Given the description of an element on the screen output the (x, y) to click on. 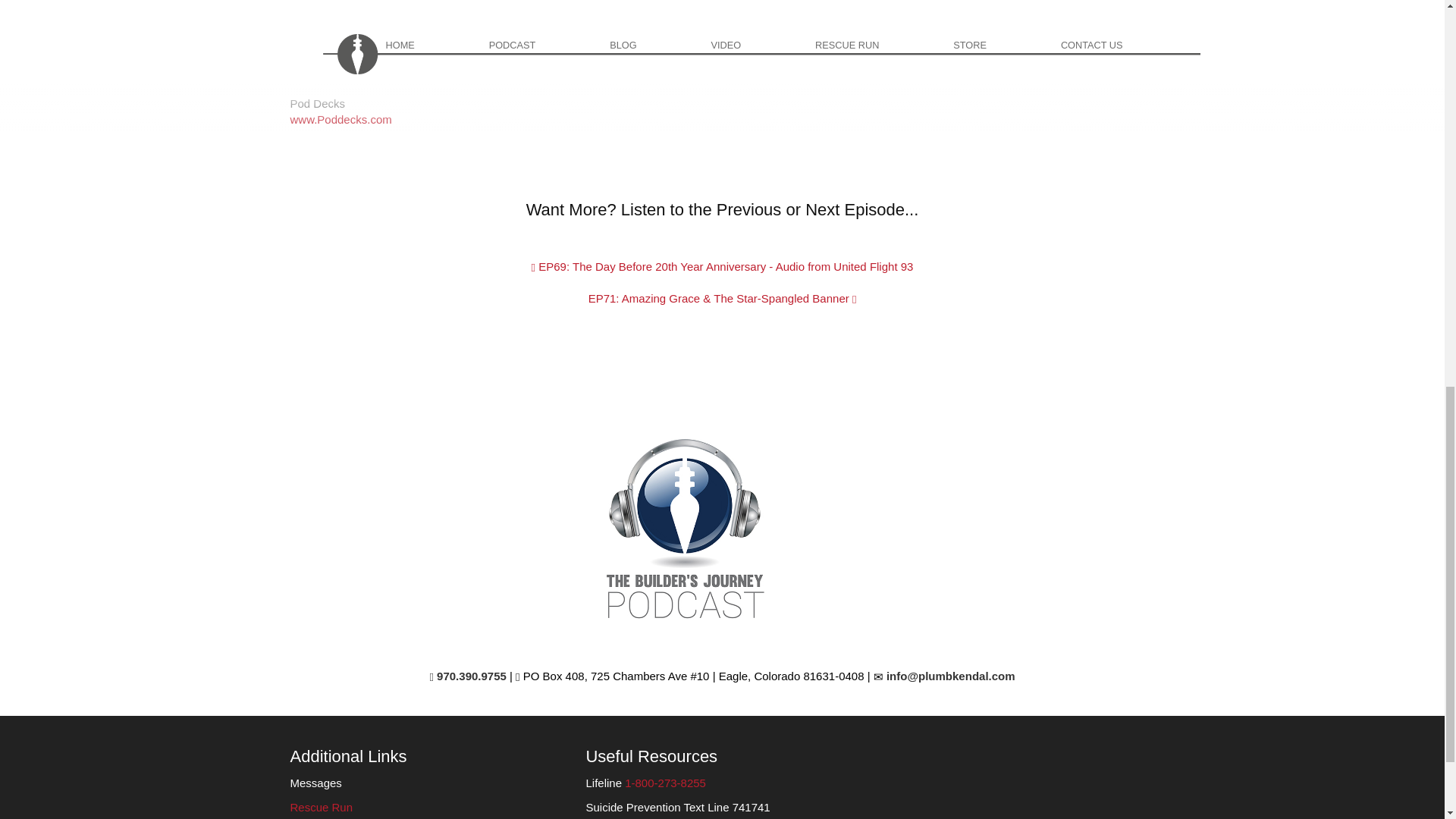
Rescue Run (320, 807)
1-800-273-8255 (665, 782)
www.Poddecks.com (340, 119)
970.390.9755 (467, 675)
